Given the description of an element on the screen output the (x, y) to click on. 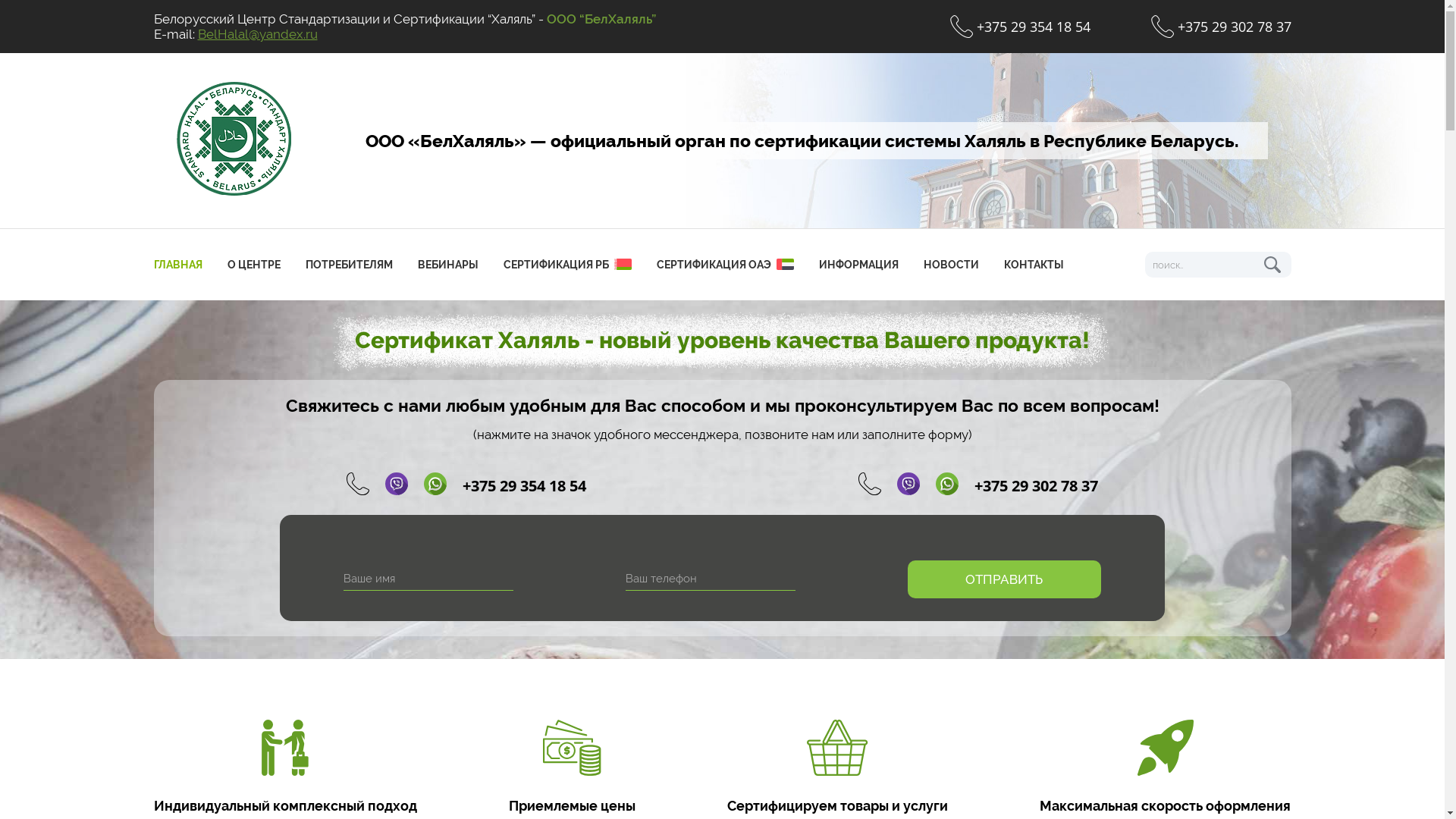
+375 29 302 78 37 Element type: text (1221, 26)
BelHalal@yandex.ru Element type: text (256, 33)
+375 29 354 18 54 Element type: text (1019, 26)
+375 29 354 18 54 Element type: text (524, 485)
+375 29 302 78 37 Element type: text (1036, 485)
  Element type: text (1271, 264)
